Given the description of an element on the screen output the (x, y) to click on. 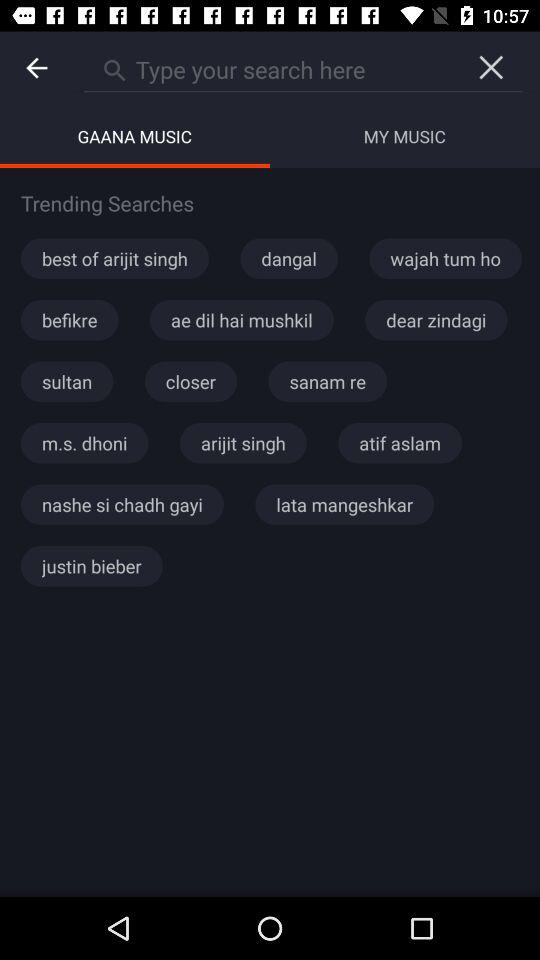
select the item next to closer app (67, 381)
